Given the description of an element on the screen output the (x, y) to click on. 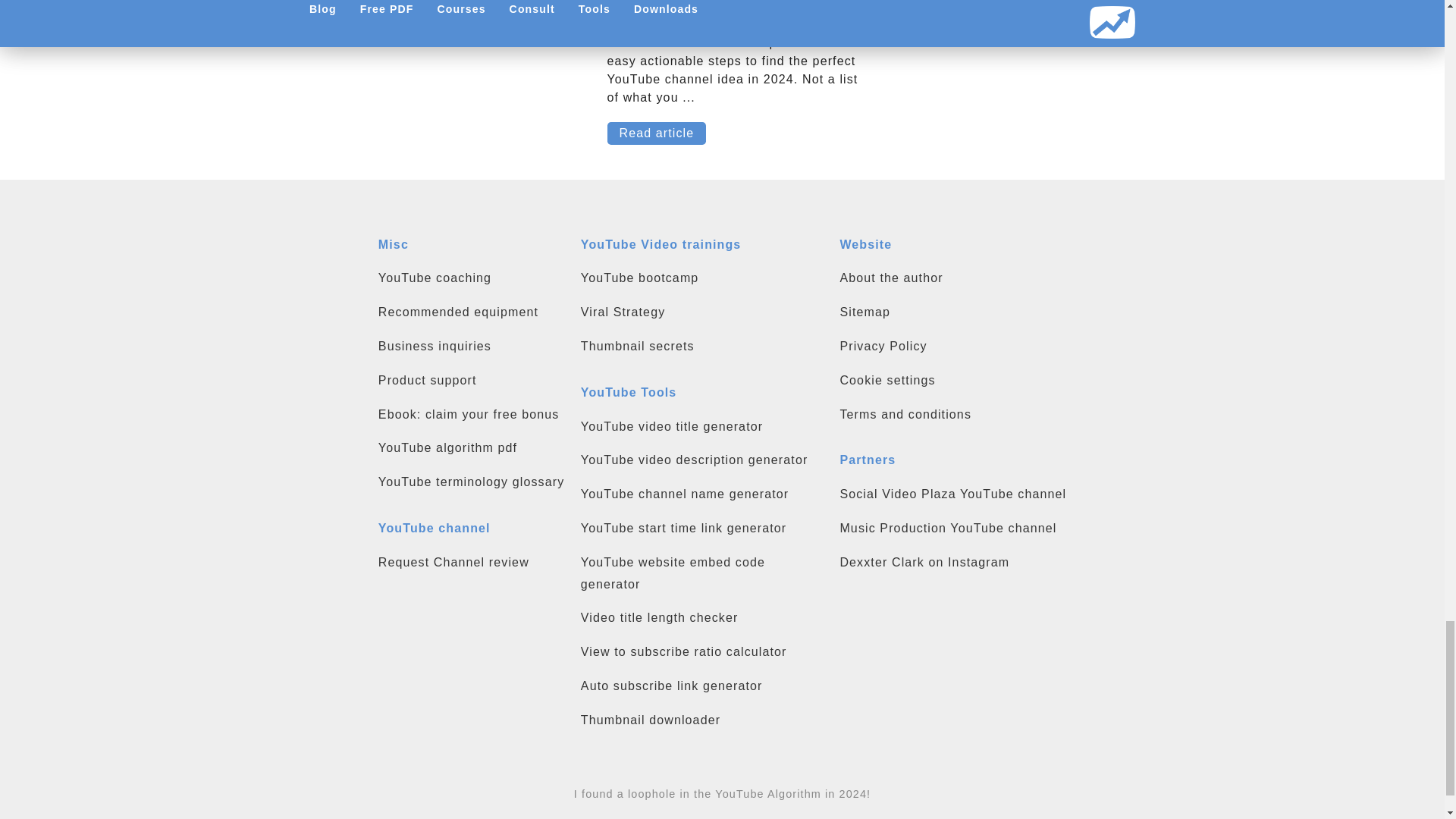
YouTube coaching (471, 278)
Request channel review (471, 563)
Recommended YouTube equipment (471, 312)
Privacy Policy (952, 346)
About the author (952, 278)
Terms and Conditions (952, 414)
Cookie settings (952, 381)
Support (471, 381)
Read article (656, 133)
Contact (471, 346)
Book: claim your free bonus (471, 414)
YouTube terminology glossary (471, 482)
YouTube algorithm pdf (471, 448)
Overview of this site (952, 312)
